Given the description of an element on the screen output the (x, y) to click on. 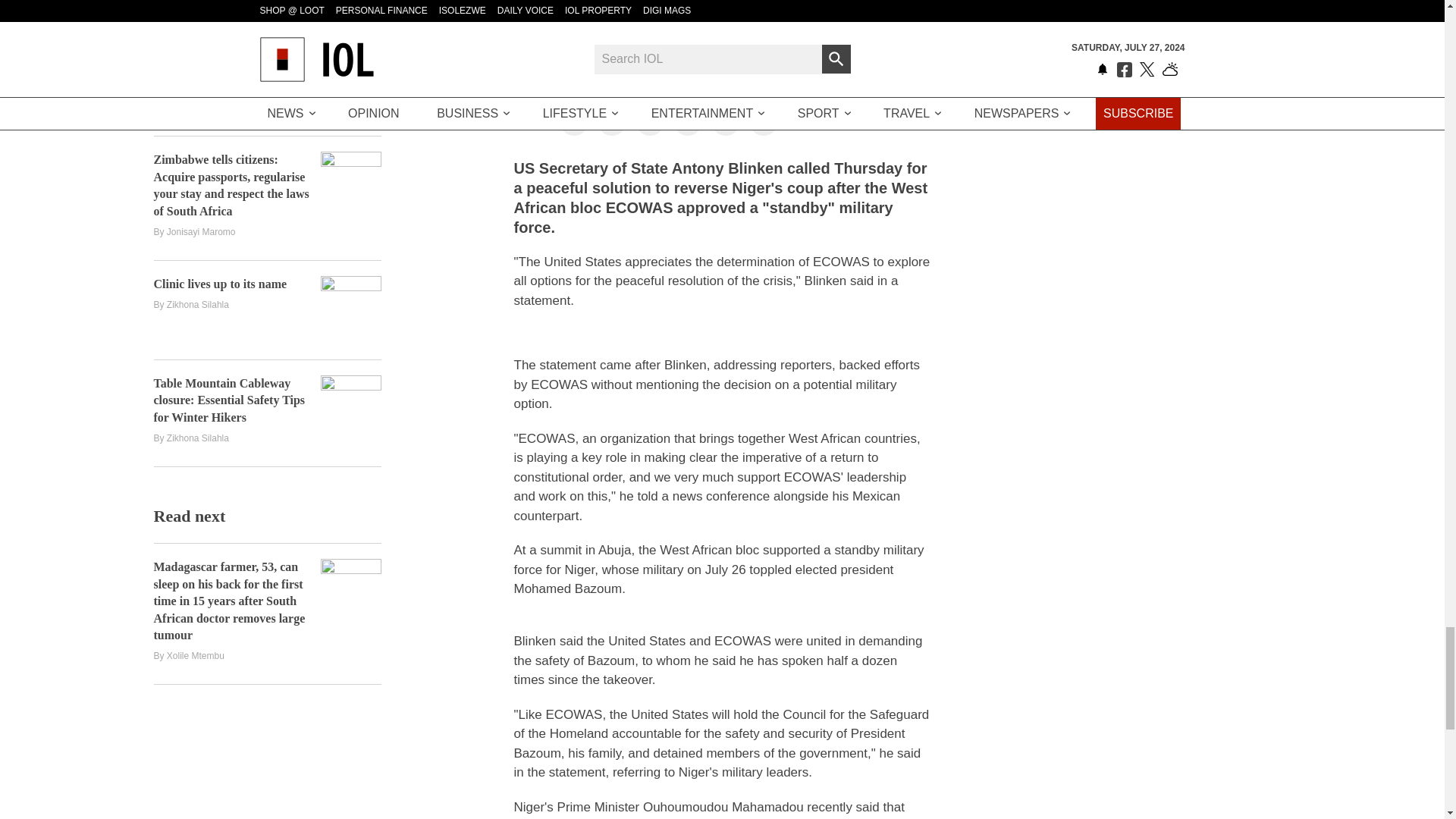
Share on Telegram (686, 120)
Share on Twitter (611, 120)
Share on Facebook (573, 120)
Share on LinkedIn (648, 120)
Copy to Clipboard (763, 120)
Share on WhatsApp (725, 120)
